Given the description of an element on the screen output the (x, y) to click on. 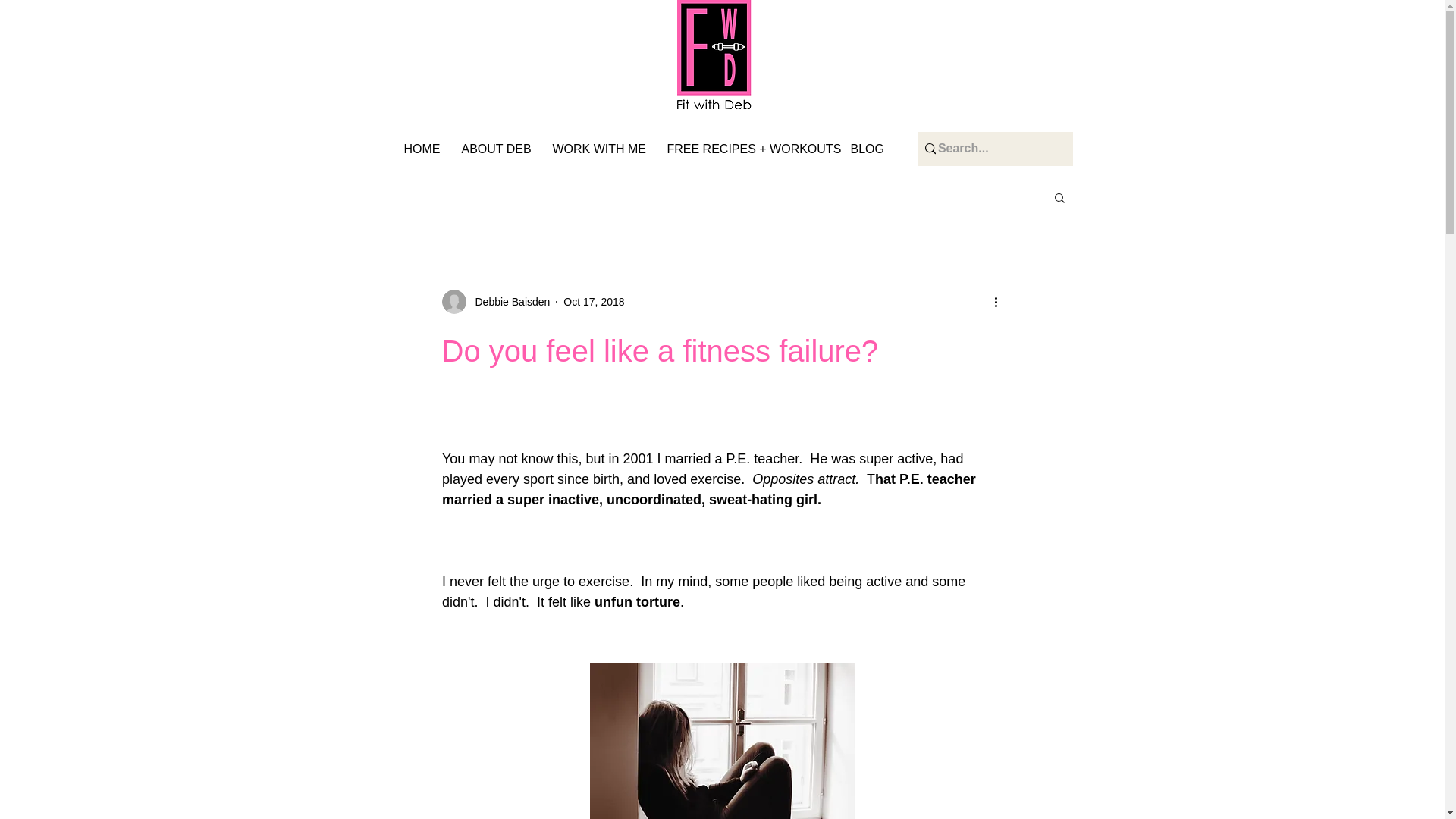
ABOUT DEB (498, 148)
Debbie Baisden (507, 302)
BLOG (869, 148)
HOME (424, 148)
Oct 17, 2018 (593, 301)
